Given the description of an element on the screen output the (x, y) to click on. 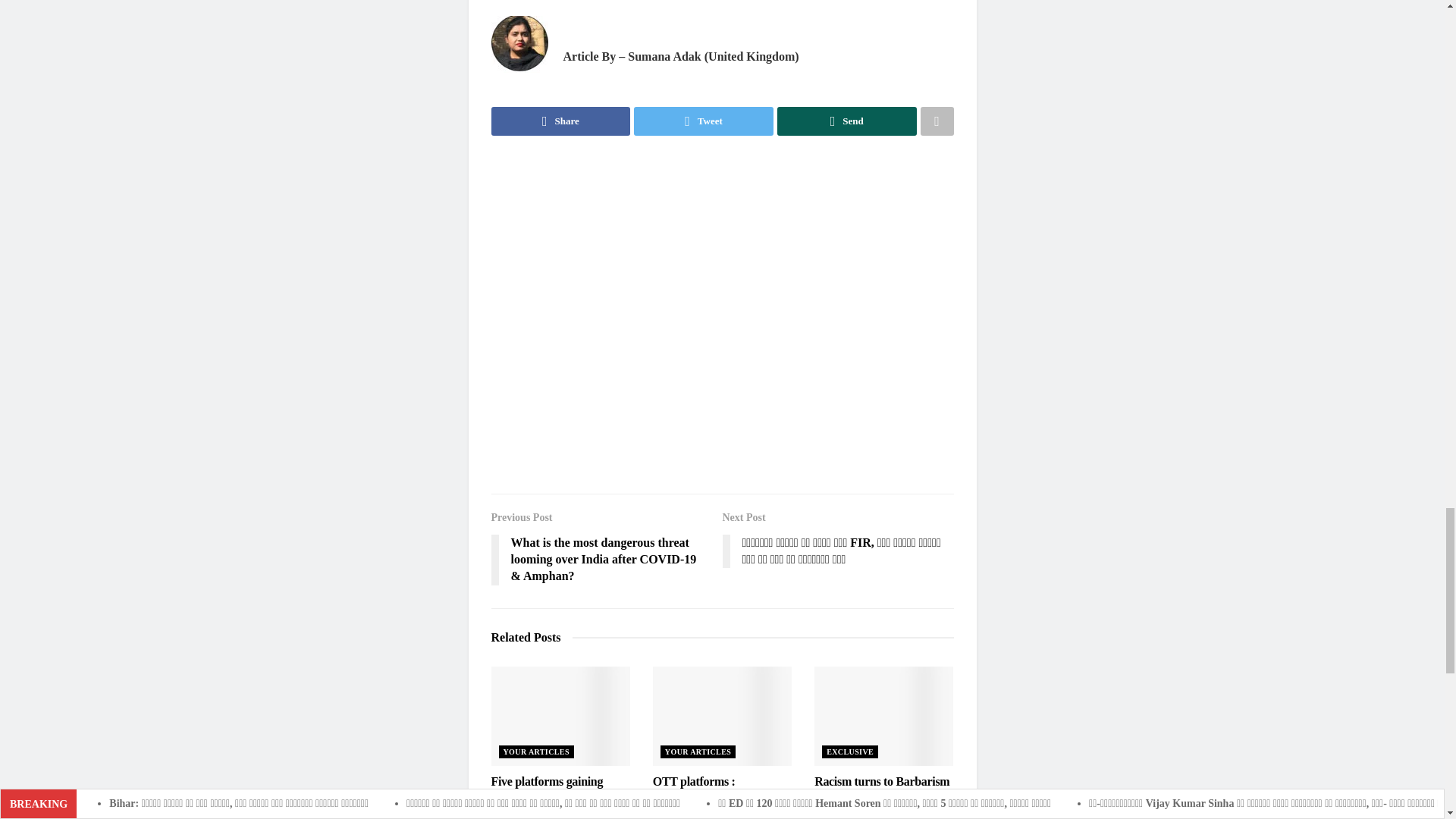
Advertisement (722, 314)
